Given the description of an element on the screen output the (x, y) to click on. 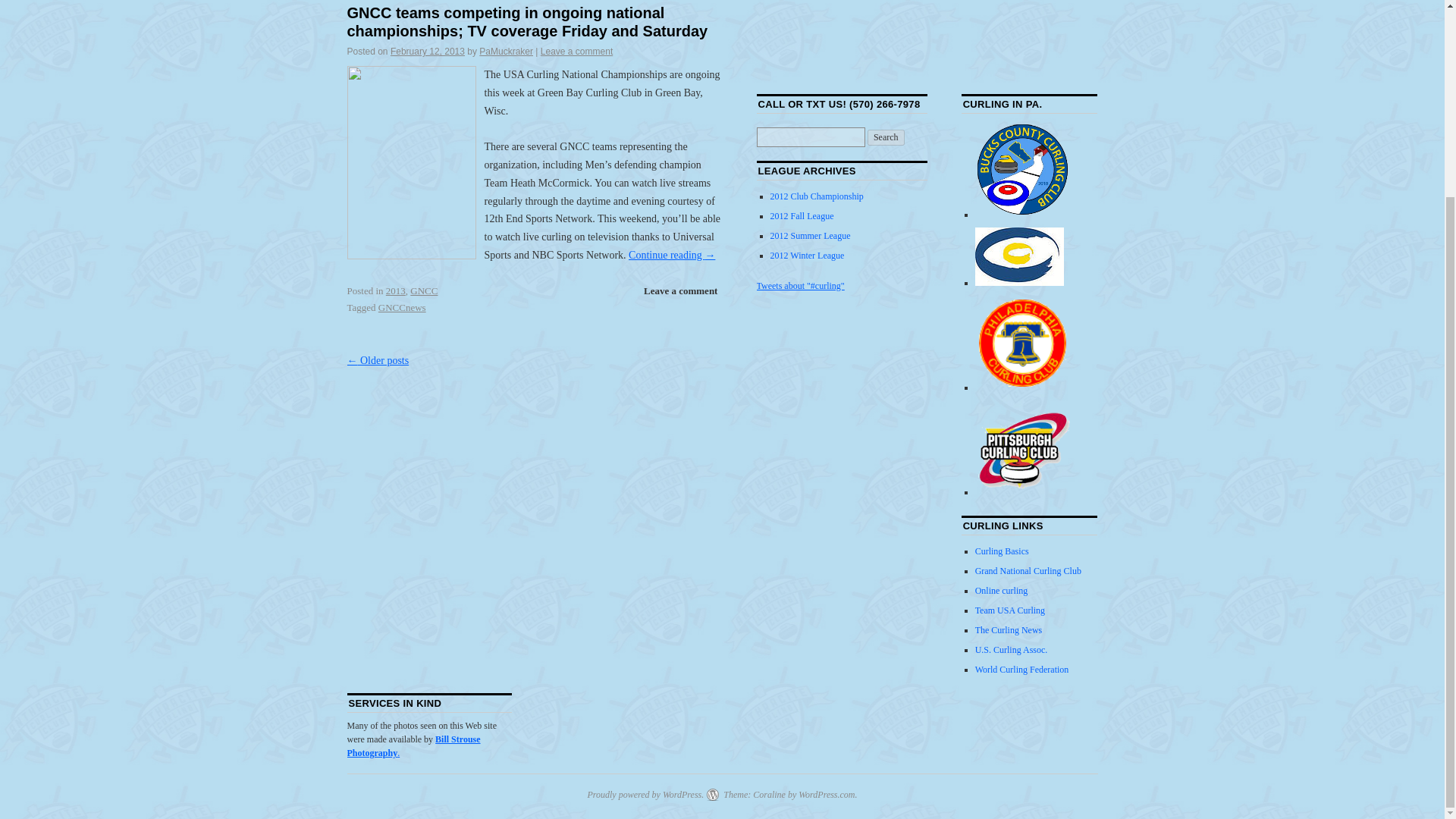
3:18 am (427, 50)
Curling Basics (1002, 551)
PaMuckraker (505, 50)
Leave a comment (680, 291)
2012 Winter League (807, 255)
2012 Summer League (810, 235)
French Creek Curling Club (1019, 282)
Team USA Curling (1010, 610)
GNCCnews (402, 307)
